Given the description of an element on the screen output the (x, y) to click on. 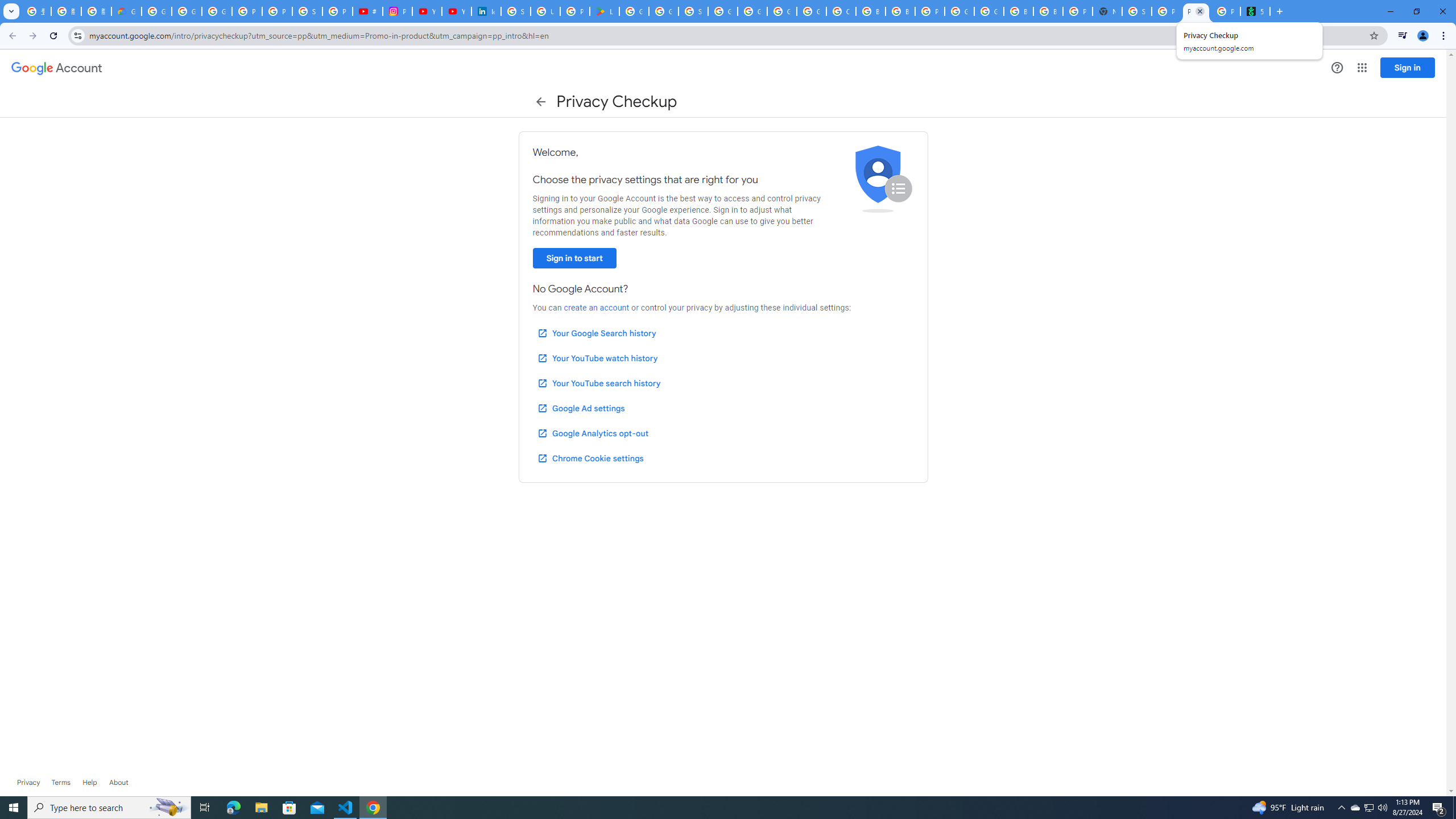
Your Google Search history (596, 332)
Google Account settings (56, 68)
Your YouTube watch history (597, 358)
Help (89, 782)
Address and search bar (725, 35)
Control your music, videos, and more (1402, 35)
YouTube Culture & Trends - YouTube Top 10, 2021 (456, 11)
